Given the description of an element on the screen output the (x, y) to click on. 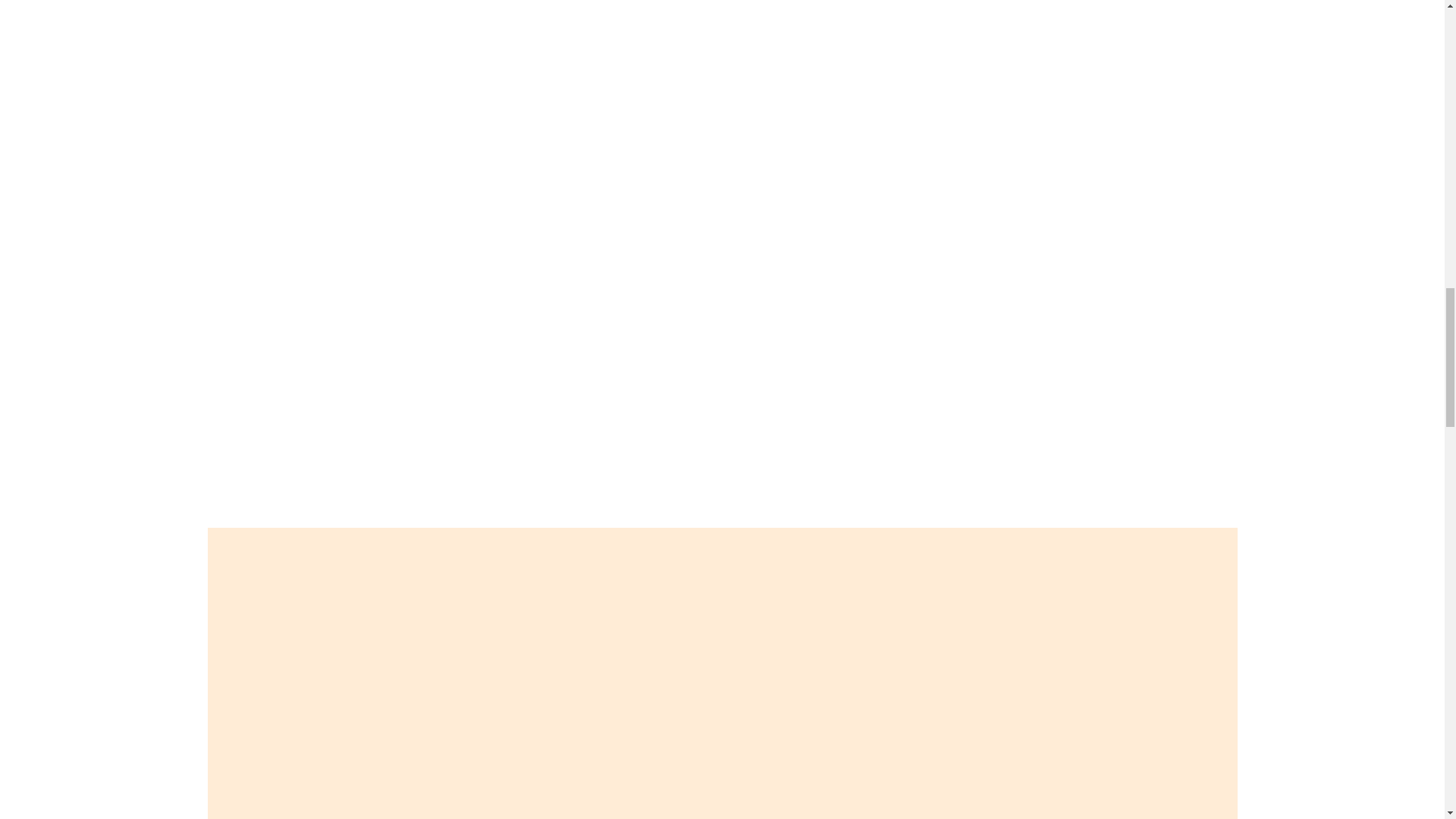
Sign Up (234, 519)
